Given the description of an element on the screen output the (x, y) to click on. 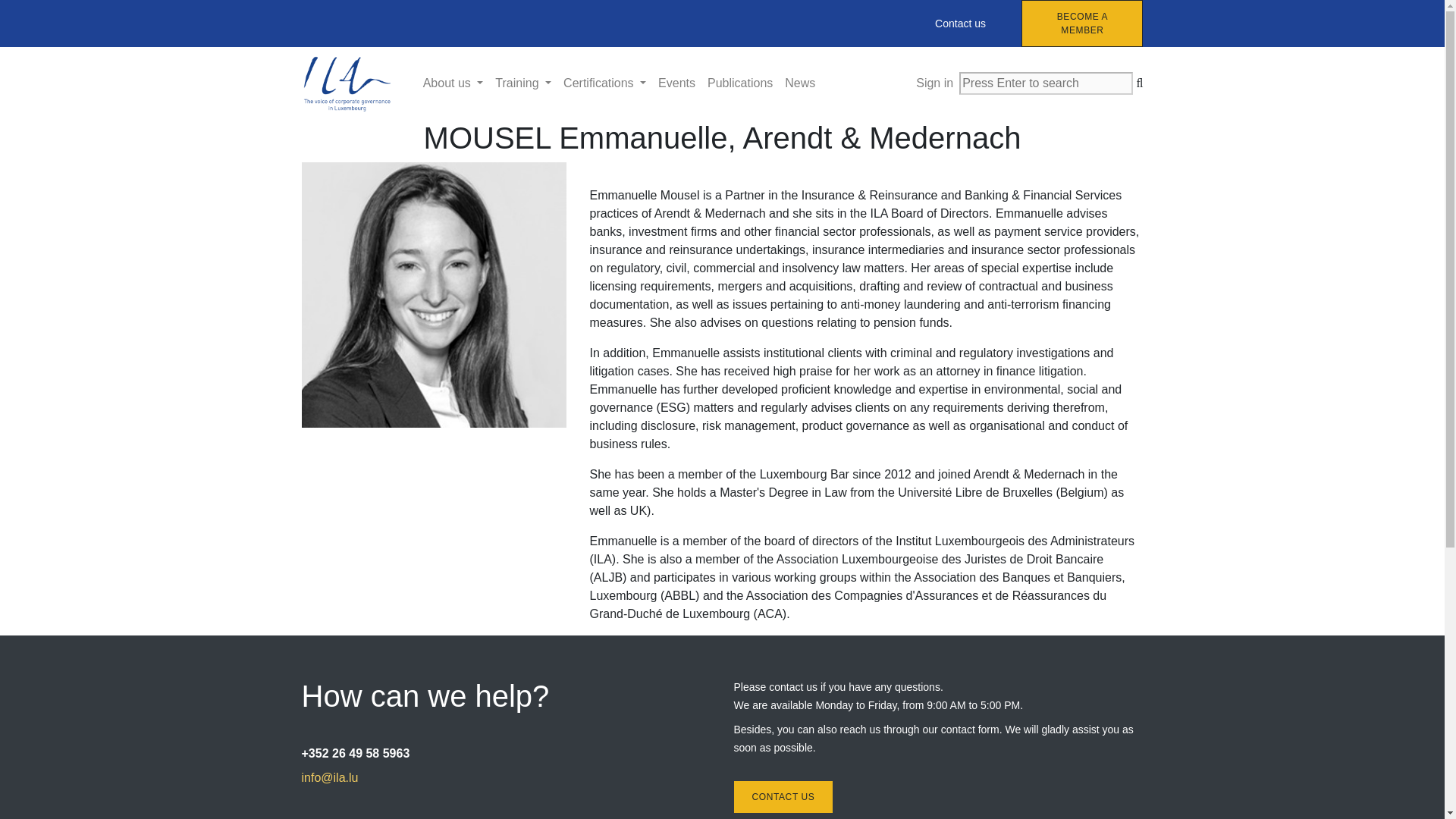
Certifications (604, 82)
BECOME A MEMBER (1082, 23)
About us (452, 82)
Contact us (959, 23)
Training (523, 82)
ILA - Institut Luxembourgeois des Administrateurs (347, 83)
